Given the description of an element on the screen output the (x, y) to click on. 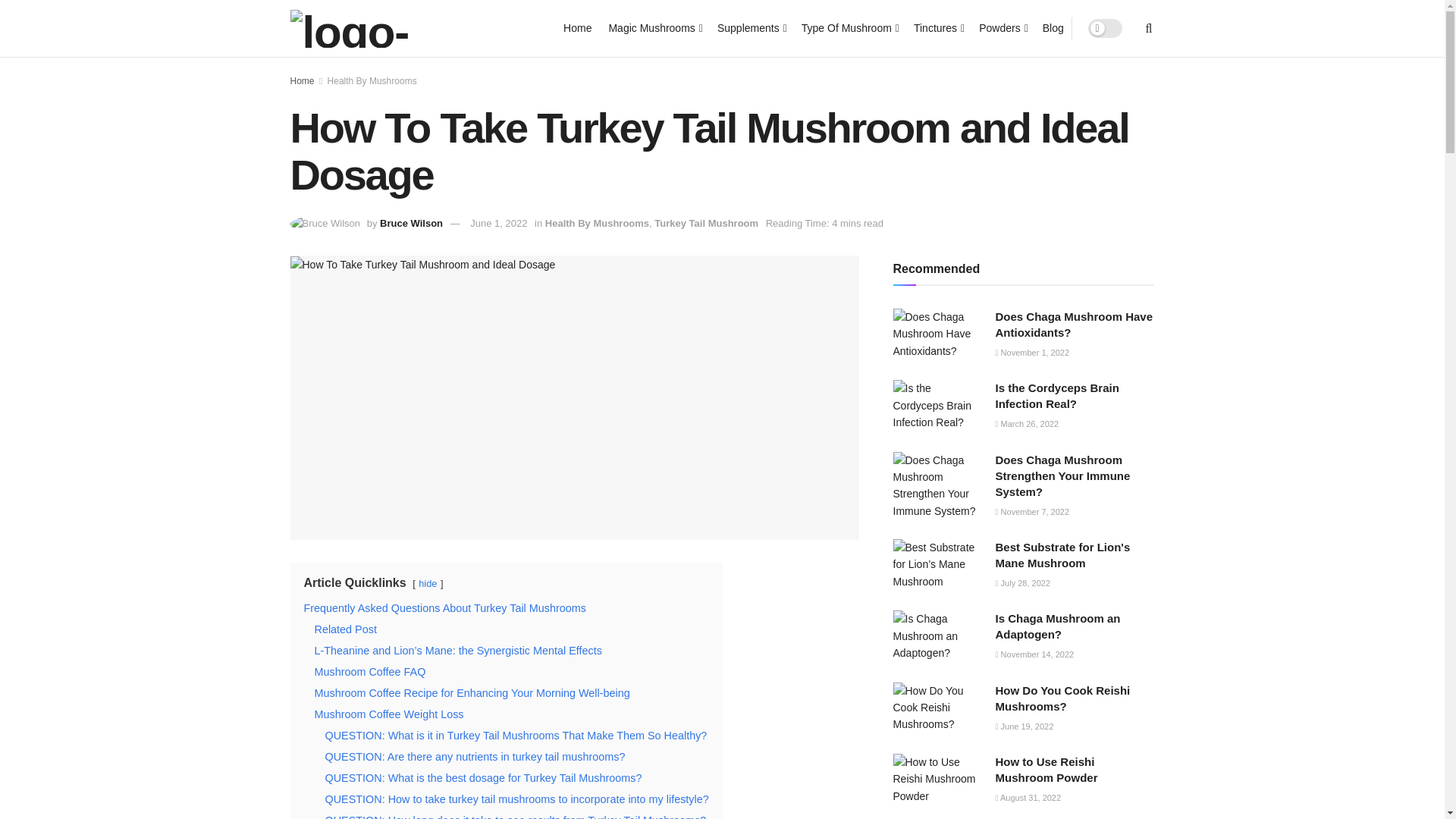
Magic Mushrooms (654, 27)
Type Of Mushroom (849, 27)
Home (577, 27)
Supplements (750, 27)
